Given the description of an element on the screen output the (x, y) to click on. 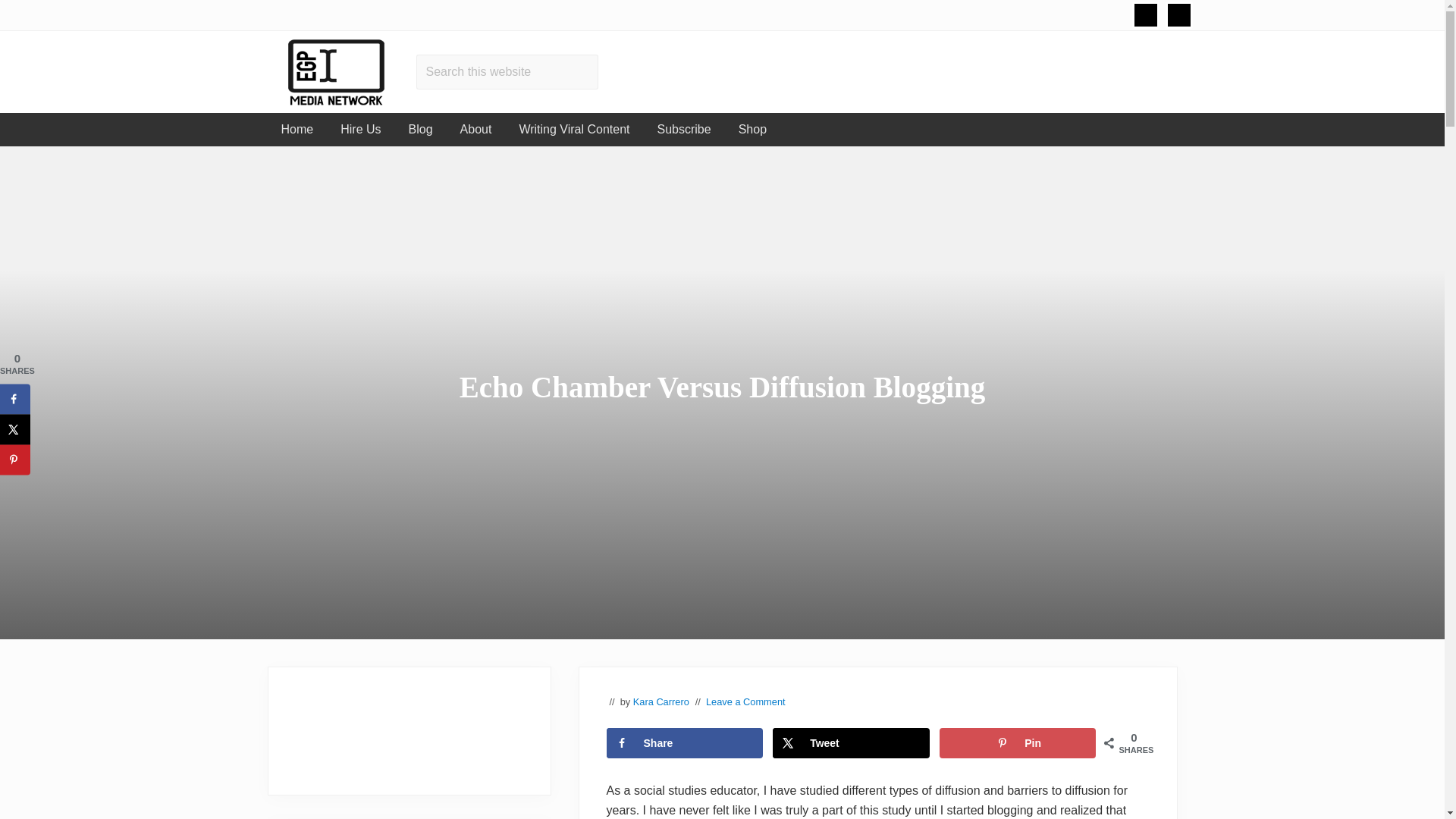
Save to Pinterest (1017, 743)
Kara Carrero (660, 701)
Home (296, 129)
Email (1145, 15)
Hire Us (360, 129)
Email (1144, 14)
Leave a Comment (746, 701)
Tweet (851, 743)
Writing Viral Content (574, 129)
Share on X (851, 743)
Facebook (1178, 14)
Blog (420, 129)
Share on X (15, 429)
